Given the description of an element on the screen output the (x, y) to click on. 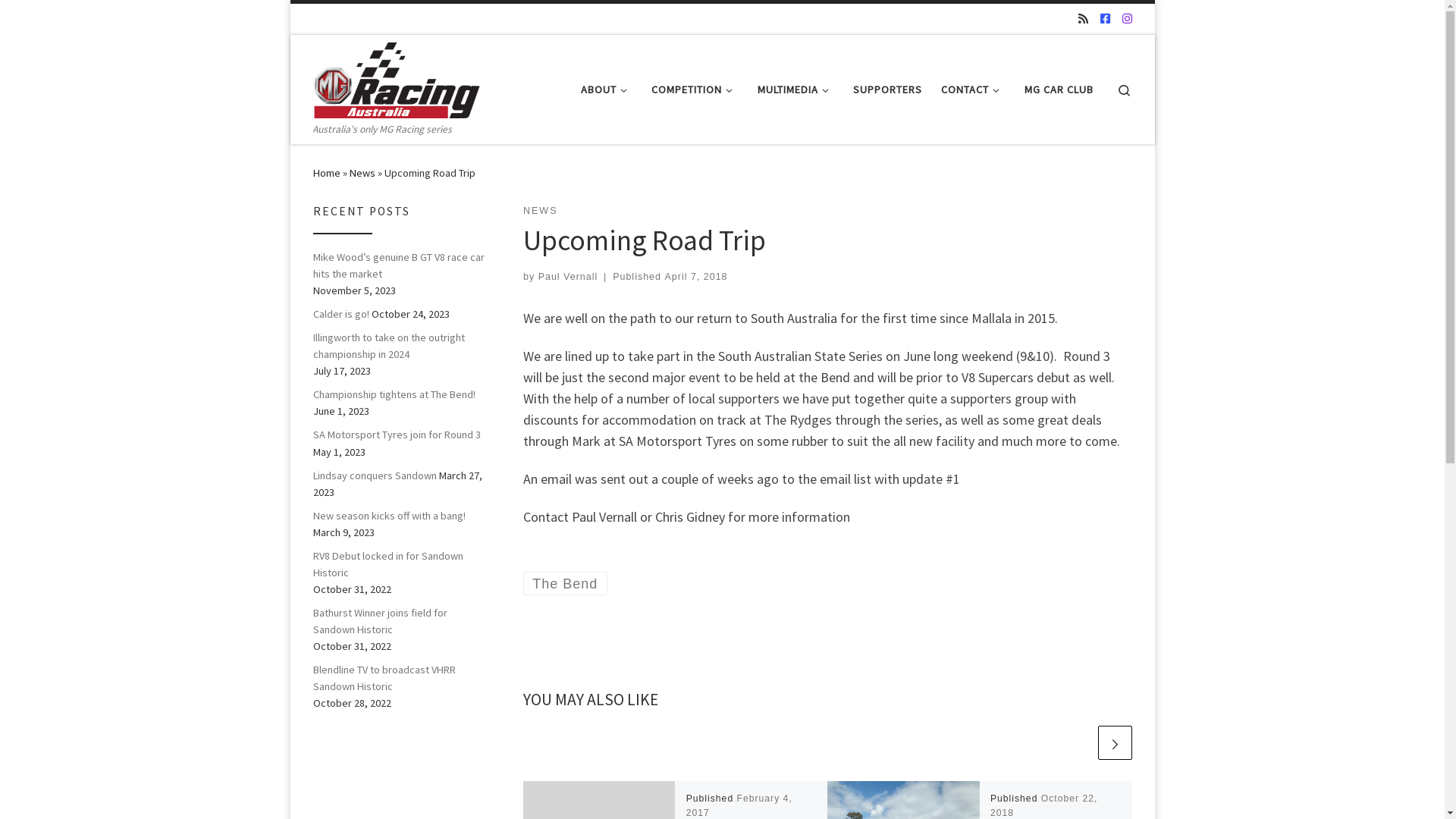
MG CAR CLUB Element type: text (1058, 89)
Championship tightens at The Bend! Element type: text (393, 393)
April 7, 2018 Element type: text (695, 276)
MULTIMEDIA Element type: text (795, 89)
The Bend Element type: text (565, 583)
Previous related articles Element type: hover (1078, 742)
Blendline TV to broadcast VHRR Sandown Historic Element type: text (398, 677)
SA Motorsport Tyres join for Round 3 Element type: text (396, 434)
News Element type: text (361, 172)
Bathurst Winner joins field for Sandown Historic Element type: text (398, 620)
Paul Vernall Element type: text (568, 276)
ABOUT Element type: text (606, 89)
Calder is go! Element type: text (340, 313)
SUPPORTERS Element type: text (887, 89)
Home Element type: text (325, 172)
Next related articles Element type: hover (1115, 742)
October 22, 2018 Element type: text (1043, 805)
Illingworth to take on the outright championship in 2024 Element type: text (398, 345)
Subscribe to my rss feed Element type: hover (1083, 18)
RV8 Debut locked in for Sandown Historic Element type: text (398, 563)
COMPETITION Element type: text (694, 89)
Follow us on Instagram Element type: hover (1127, 18)
Lindsay conquers Sandown Element type: text (374, 475)
New season kicks off with a bang! Element type: text (388, 515)
Follow us on Facebook-square Element type: hover (1104, 18)
Search Element type: text (1123, 89)
February 4, 2017 Element type: text (739, 805)
CONTACT Element type: text (973, 89)
NEWS Element type: text (540, 210)
Skip to content Element type: text (57, 21)
